Given the description of an element on the screen output the (x, y) to click on. 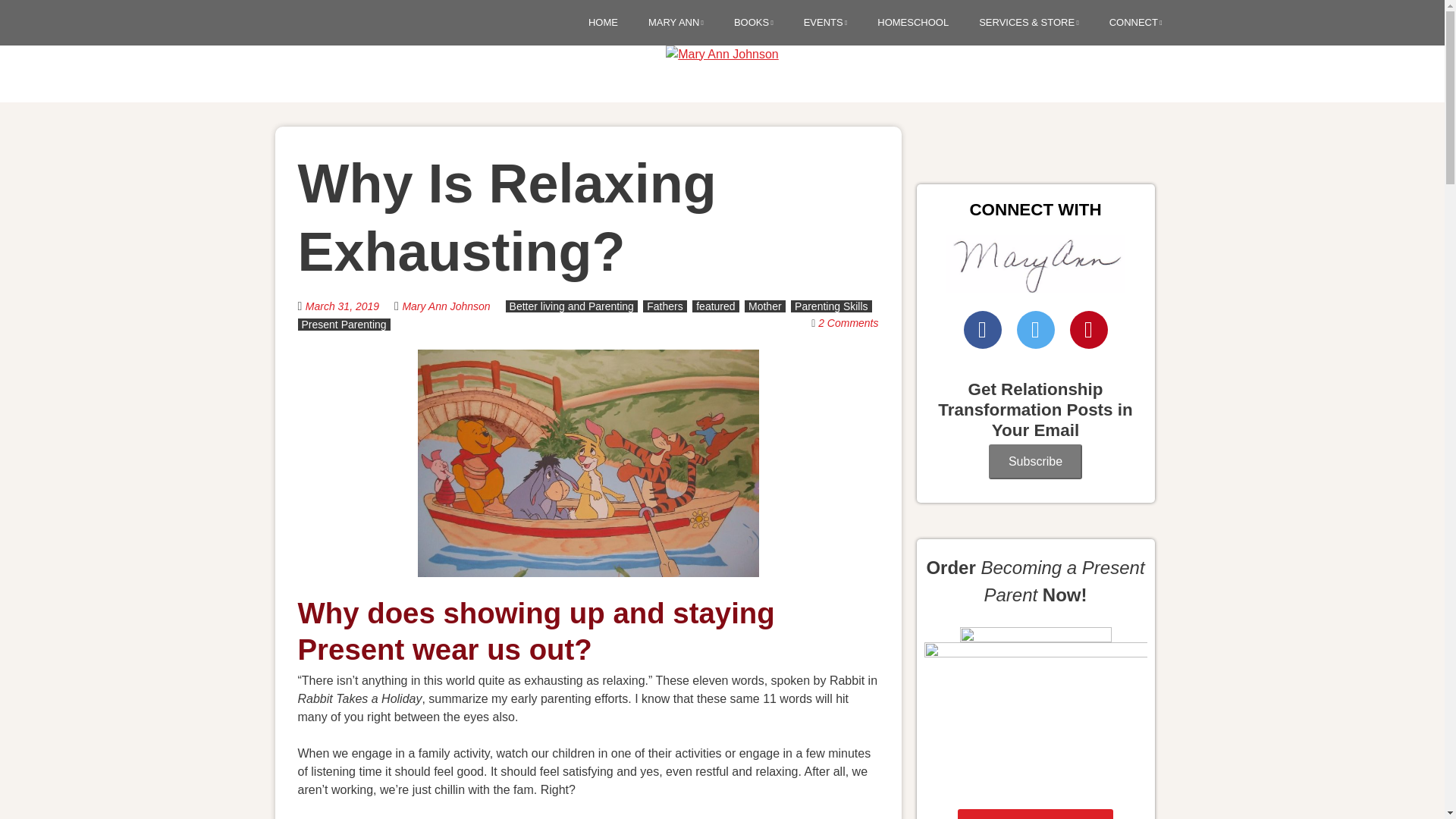
MARY ANN (675, 22)
CONNECT (1135, 22)
2 Comments (847, 322)
Mary Ann Johnson (445, 306)
March 31, 2019 (349, 305)
Skip to content (598, 24)
Fathers (664, 306)
EVENTS (825, 22)
Parenting Skills (831, 306)
HOME (602, 22)
